Given the description of an element on the screen output the (x, y) to click on. 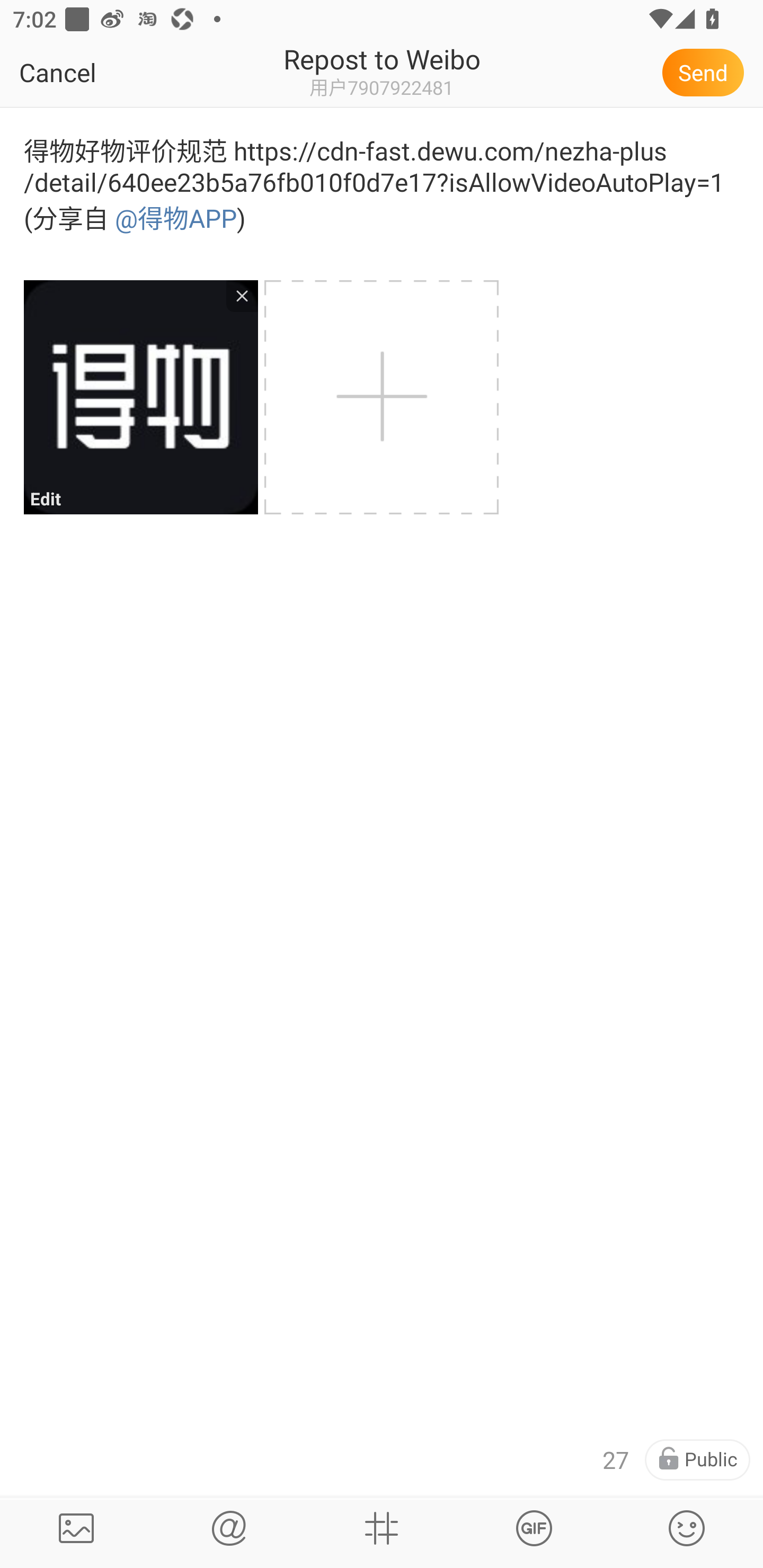
Cancel (99, 71)
Send (706, 71)
Edit (140, 397)
Meyou Public (697, 1459)
27 Number of words available: (615, 1459)
Pictures Upload (76, 1527)
Search (228, 1527)
Topics, movies, books, songs, places, stocks (381, 1527)
Topics, movies, books, songs, places, stocks (533, 1527)
请插入表情 (686, 1527)
